Given the description of an element on the screen output the (x, y) to click on. 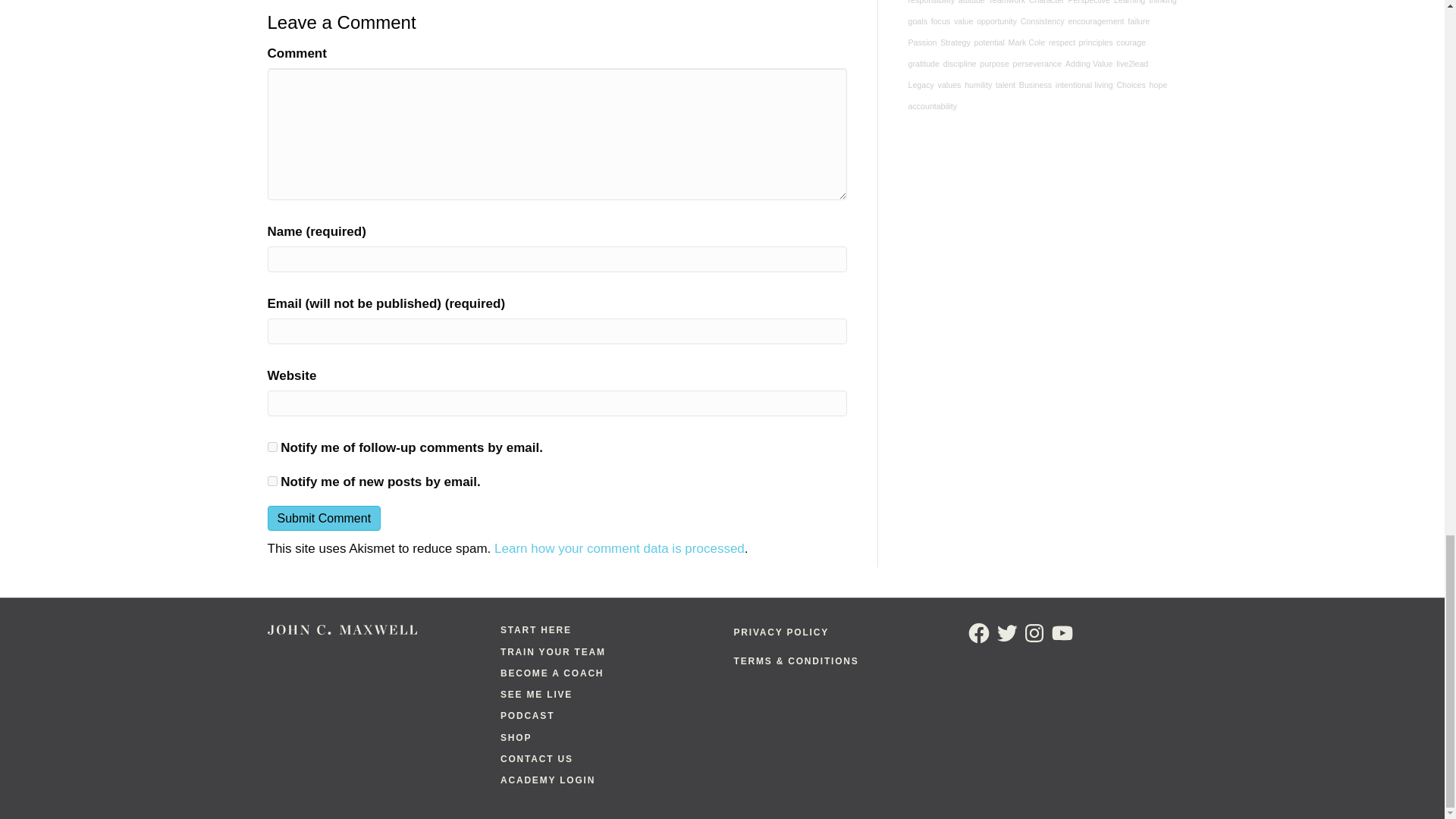
subscribe (271, 480)
subscribe (271, 447)
Submit Comment (323, 518)
Submit Comment (323, 518)
Learn how your comment data is processed (619, 548)
